Given the description of an element on the screen output the (x, y) to click on. 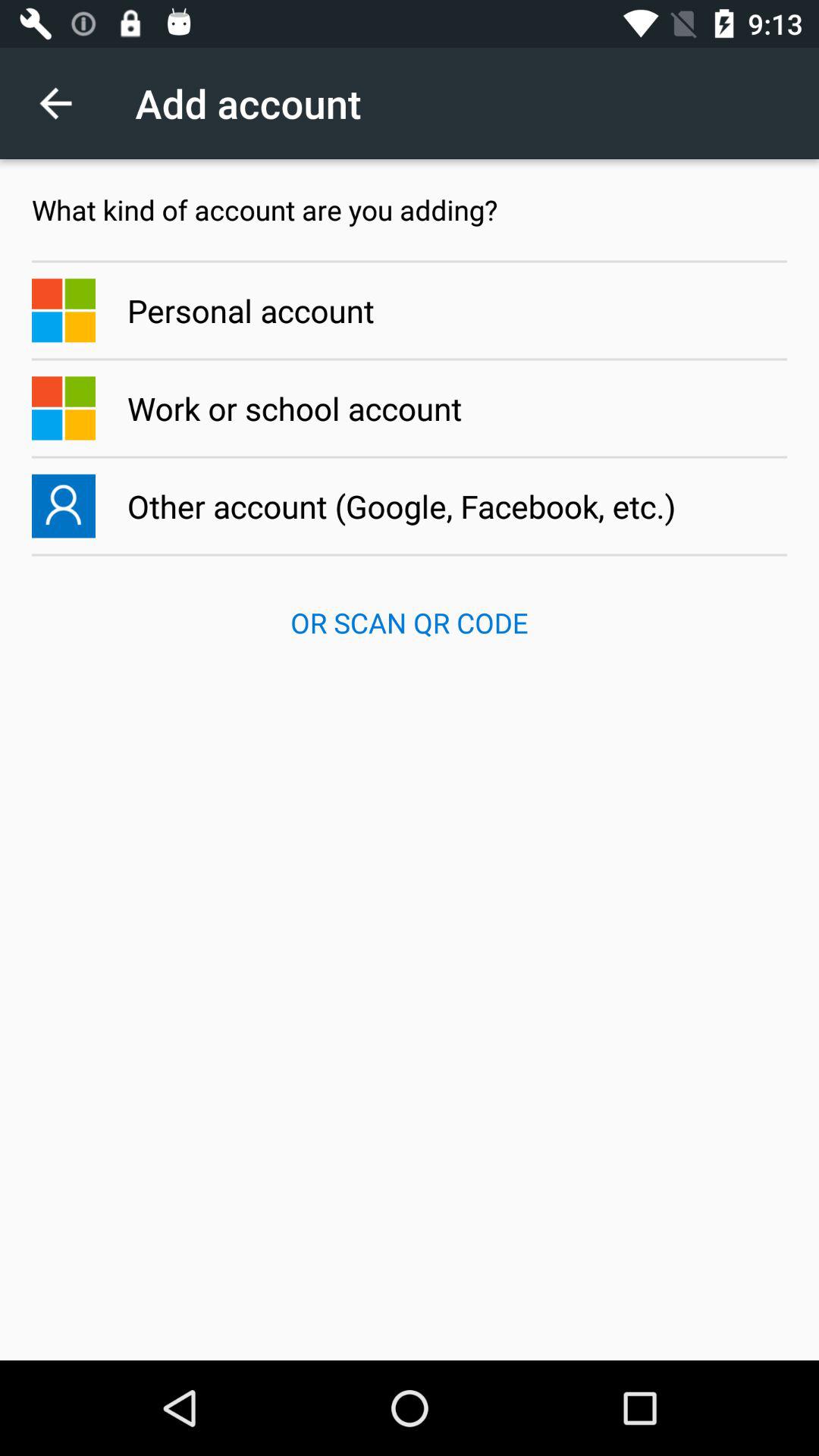
tap the or scan qr app (409, 622)
